Given the description of an element on the screen output the (x, y) to click on. 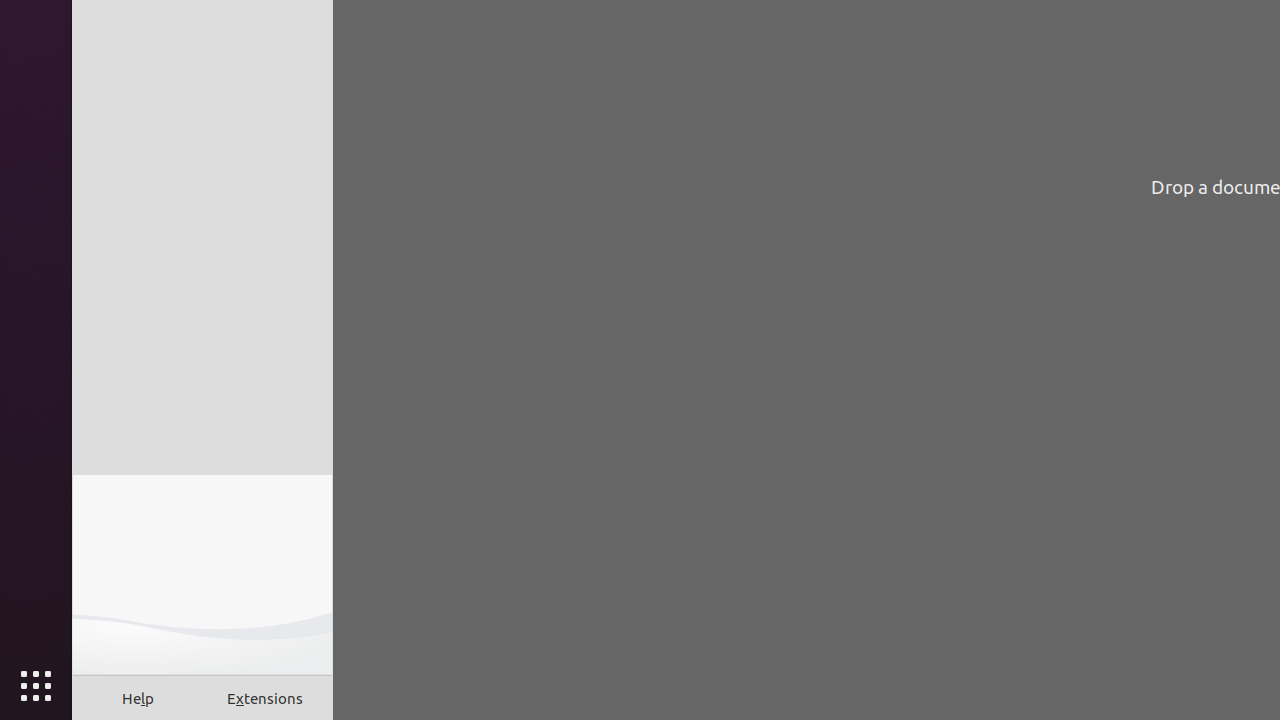
Extensions Element type: push-button (265, 698)
